Given the description of an element on the screen output the (x, y) to click on. 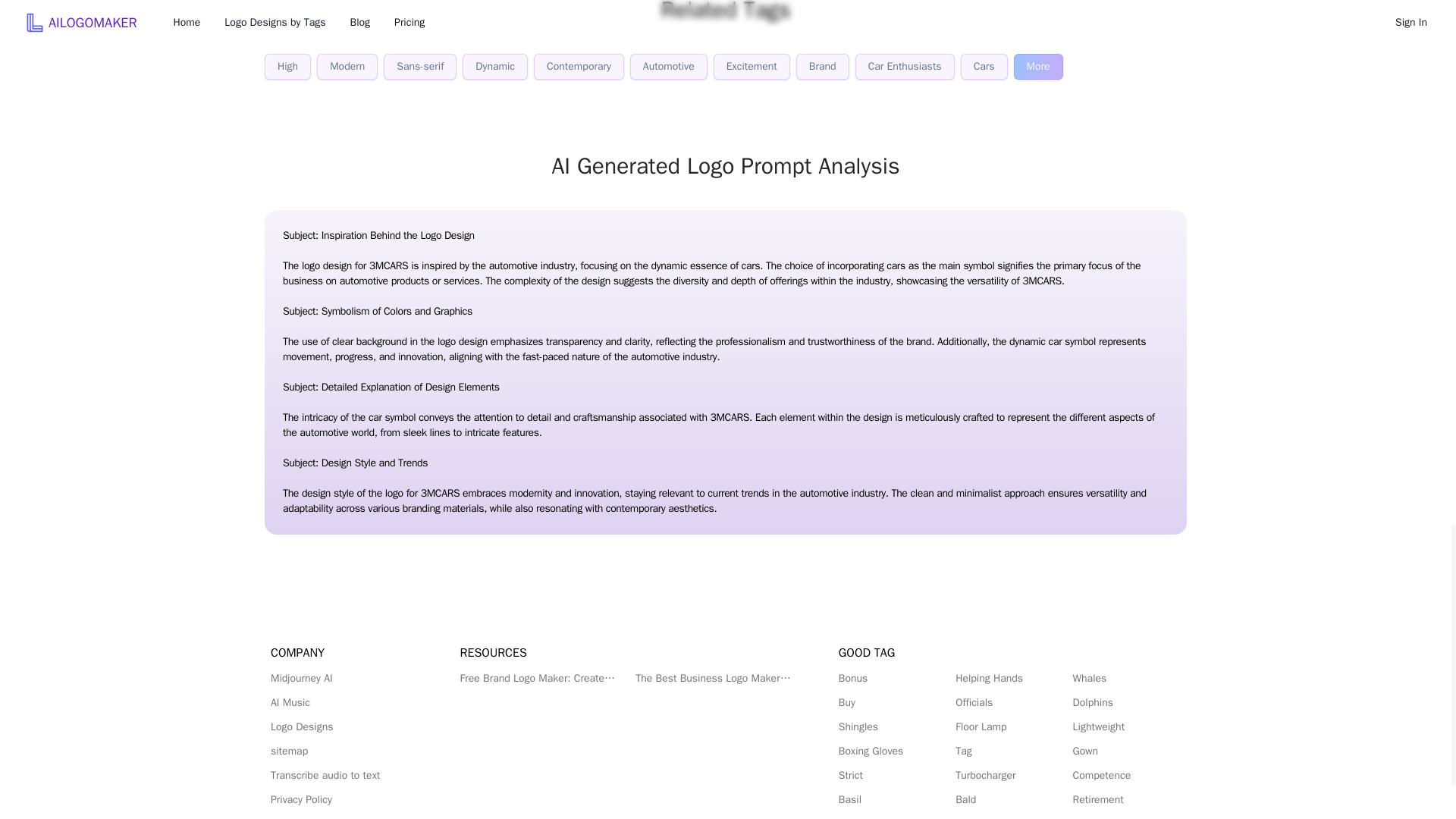
Privacy Policy (346, 799)
Transcribe audio to text (346, 775)
More (1037, 66)
AI Music (346, 702)
High (287, 66)
Car Enthusiasts (905, 66)
Bonus (892, 678)
Contemporary (579, 66)
Helping Hands (1008, 678)
